Given the description of an element on the screen output the (x, y) to click on. 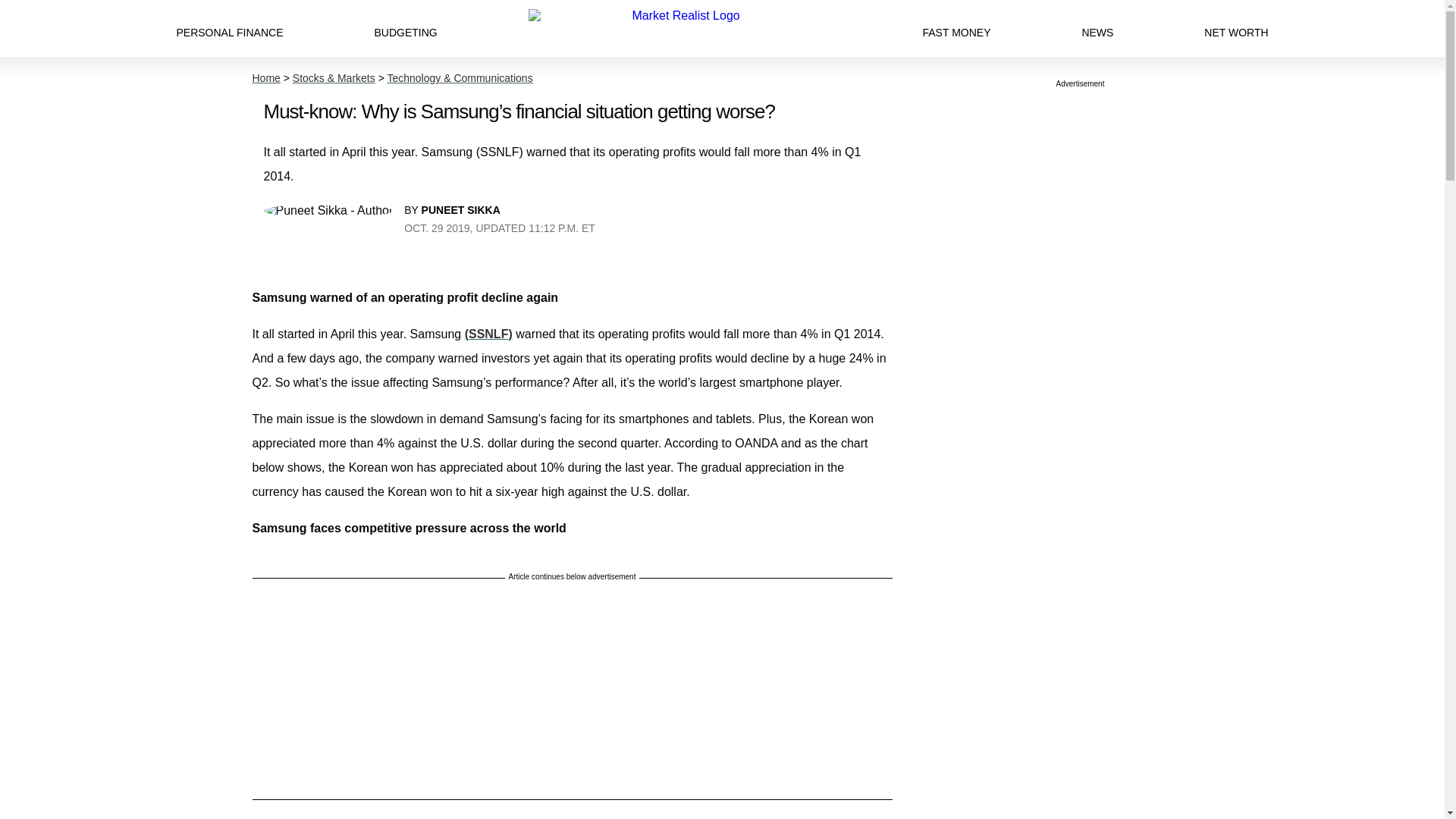
BUDGETING (405, 27)
PUNEET SIKKA (461, 209)
FAST MONEY (955, 27)
Home (265, 78)
NET WORTH (1236, 27)
PERSONAL FINANCE (229, 27)
NEWS (1097, 27)
